Given the description of an element on the screen output the (x, y) to click on. 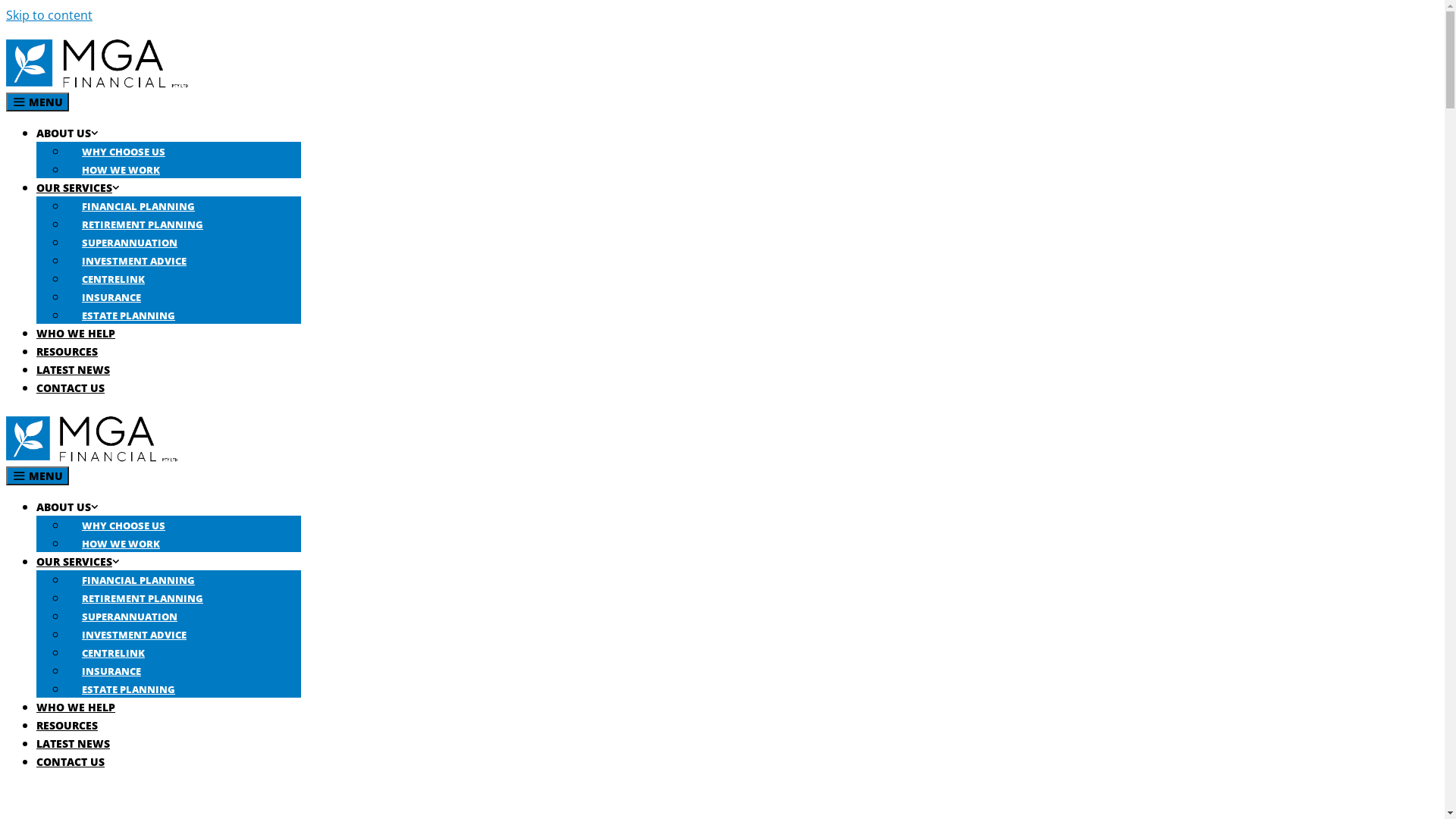
SUPERANNUATION Element type: text (129, 242)
ABOUT US Element type: text (67, 506)
WHY CHOOSE US Element type: text (123, 151)
CENTRELINK Element type: text (113, 652)
WHO WE HELP Element type: text (75, 706)
HOW WE WORK Element type: text (120, 543)
RESOURCES Element type: text (66, 725)
INSURANCE Element type: text (111, 671)
FINANCIAL PLANNING Element type: text (138, 206)
WHY CHOOSE US Element type: text (123, 525)
INVESTMENT ADVICE Element type: text (133, 260)
OUR SERVICES Element type: text (78, 561)
SUPERANNUATION Element type: text (129, 616)
RETIREMENT PLANNING Element type: text (142, 224)
MENU Element type: text (37, 101)
RETIREMENT PLANNING Element type: text (142, 598)
Skip to content Element type: text (49, 14)
MGA Financial Element type: hover (91, 457)
CONTACT US Element type: text (70, 761)
ESTATE PLANNING Element type: text (128, 689)
ABOUT US Element type: text (67, 132)
FINANCIAL PLANNING Element type: text (138, 580)
OUR SERVICES Element type: text (78, 187)
ESTATE PLANNING Element type: text (128, 315)
MENU Element type: text (37, 475)
CENTRELINK Element type: text (113, 278)
HOW WE WORK Element type: text (120, 169)
LATEST NEWS Element type: text (72, 369)
RESOURCES Element type: text (66, 351)
WHO WE HELP Element type: text (75, 333)
INSURANCE Element type: text (111, 297)
CONTACT US Element type: text (70, 387)
INVESTMENT ADVICE Element type: text (133, 634)
LATEST NEWS Element type: text (72, 743)
